Given the description of an element on the screen output the (x, y) to click on. 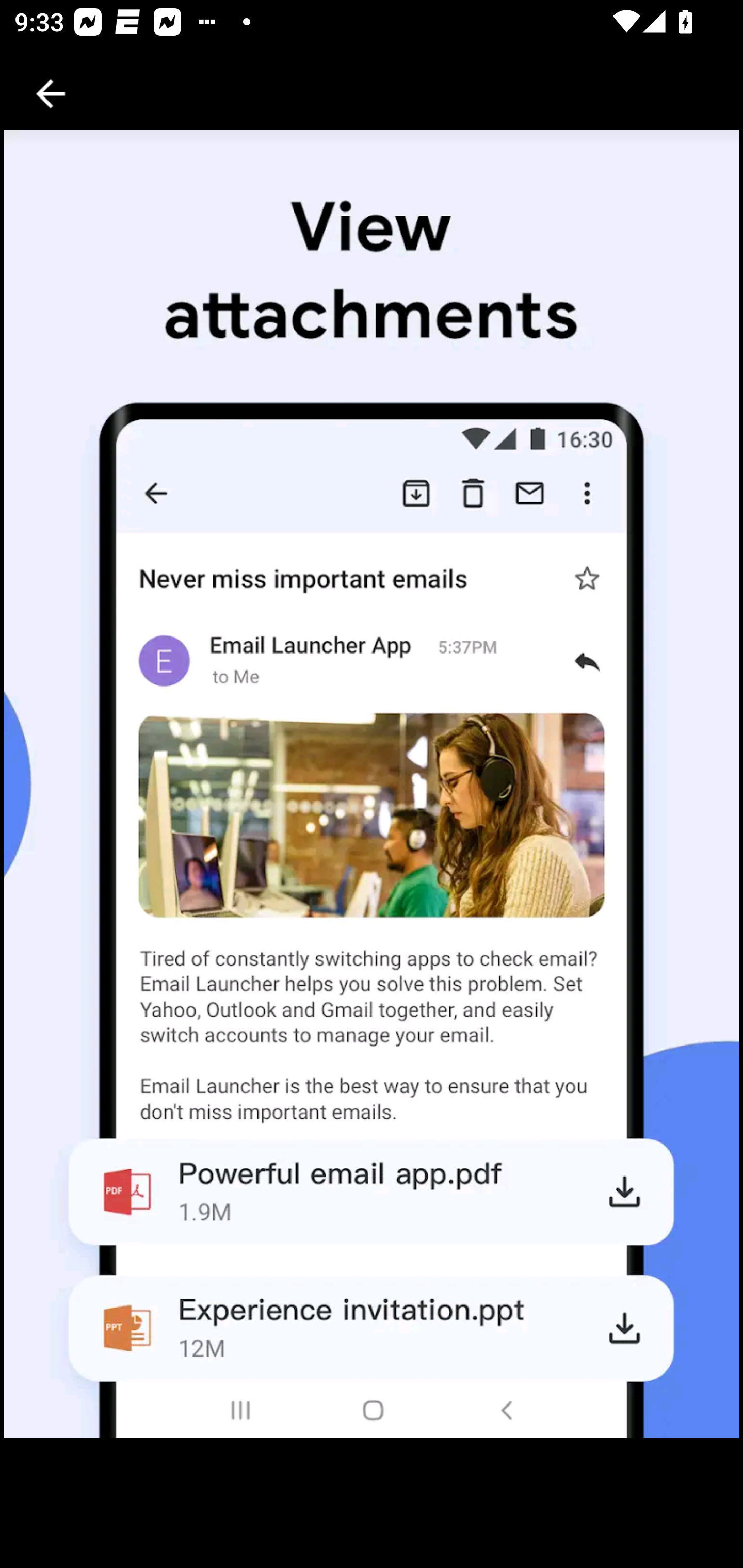
Back (50, 93)
